Given the description of an element on the screen output the (x, y) to click on. 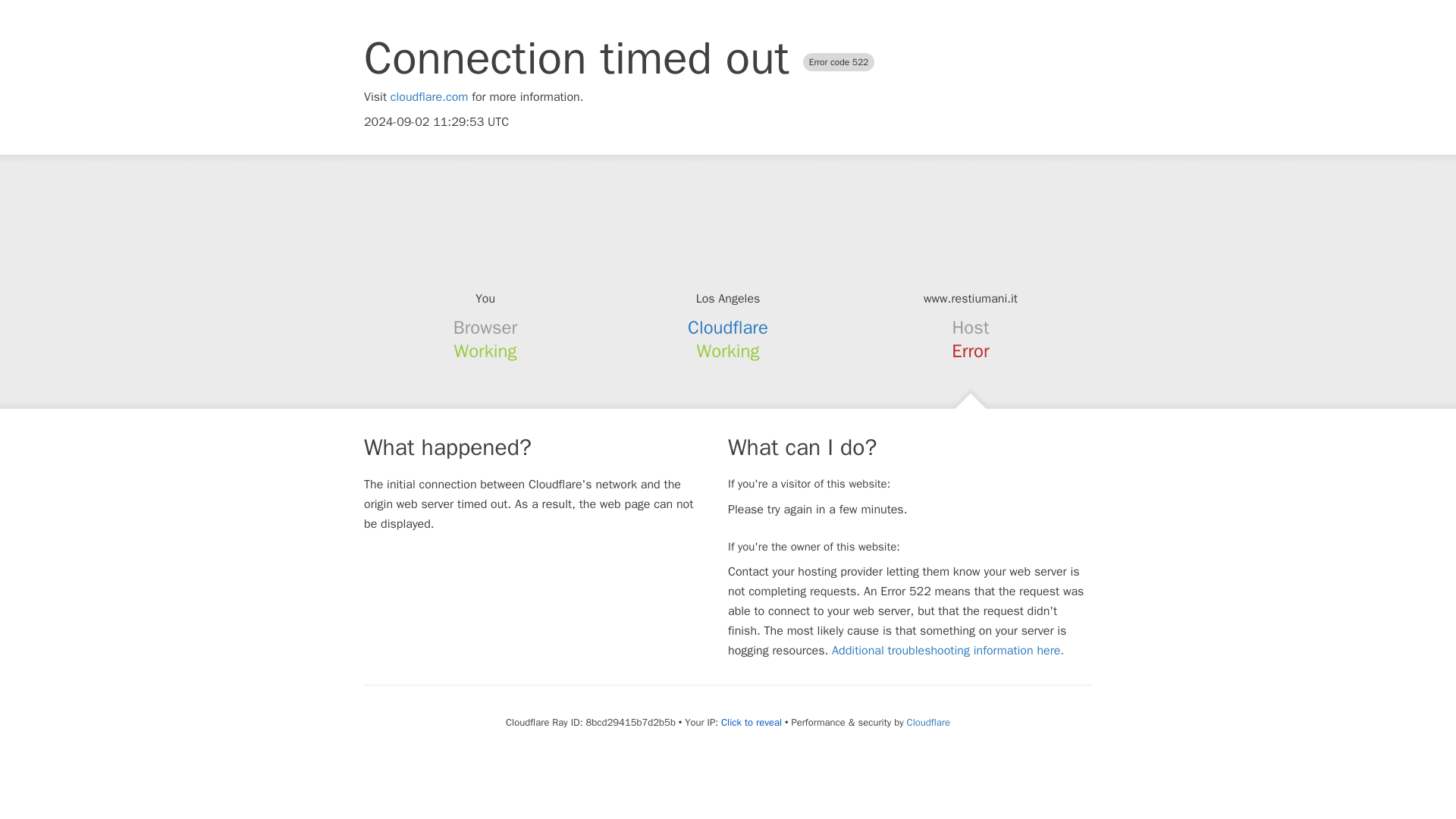
Cloudflare (727, 327)
cloudflare.com (429, 96)
Additional troubleshooting information here. (947, 650)
Cloudflare (928, 721)
Click to reveal (750, 722)
